Given the description of an element on the screen output the (x, y) to click on. 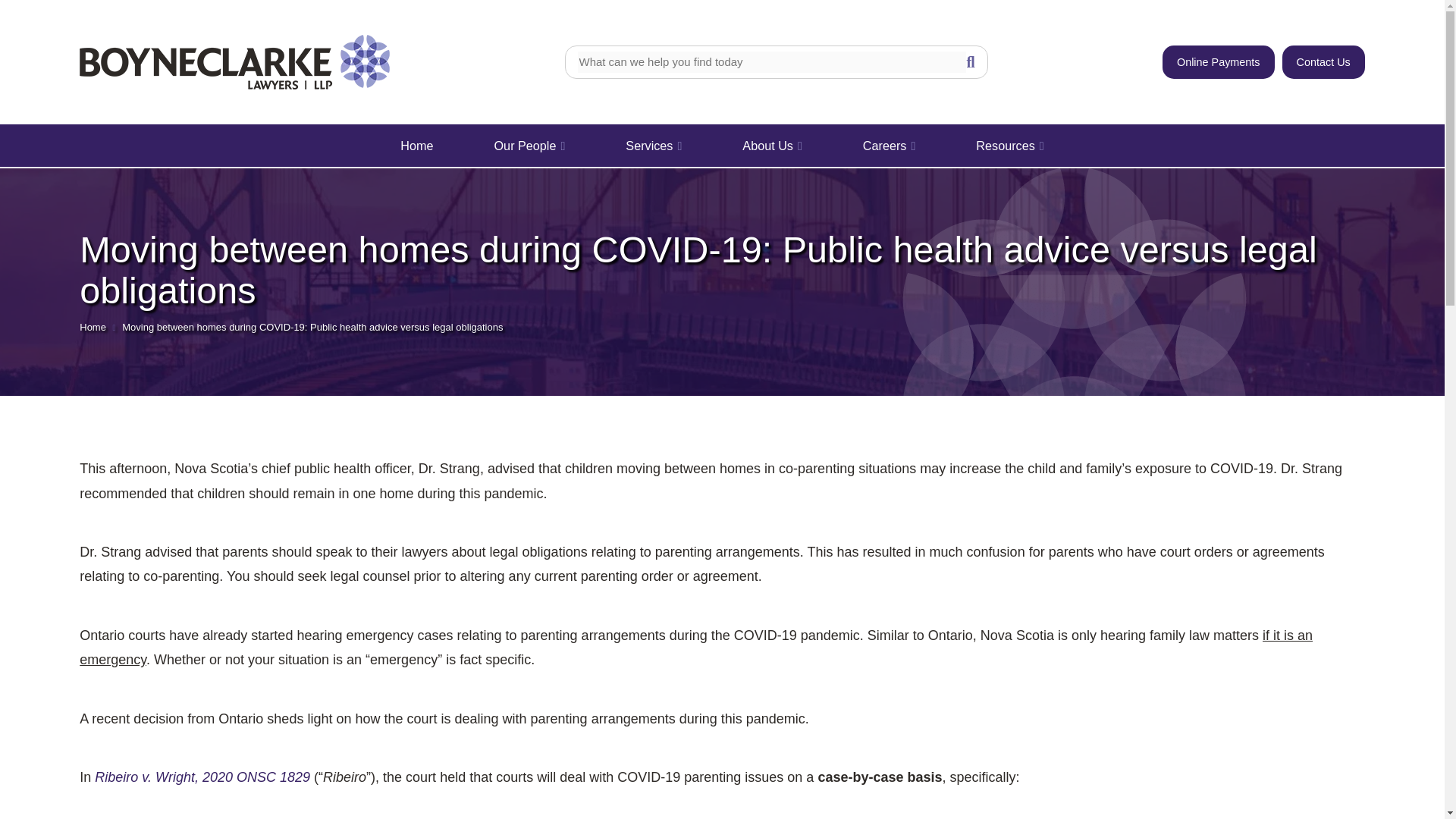
Online Payments (1218, 61)
Services (653, 145)
Contact Us (1323, 61)
Home (416, 145)
Our People (529, 145)
